Given the description of an element on the screen output the (x, y) to click on. 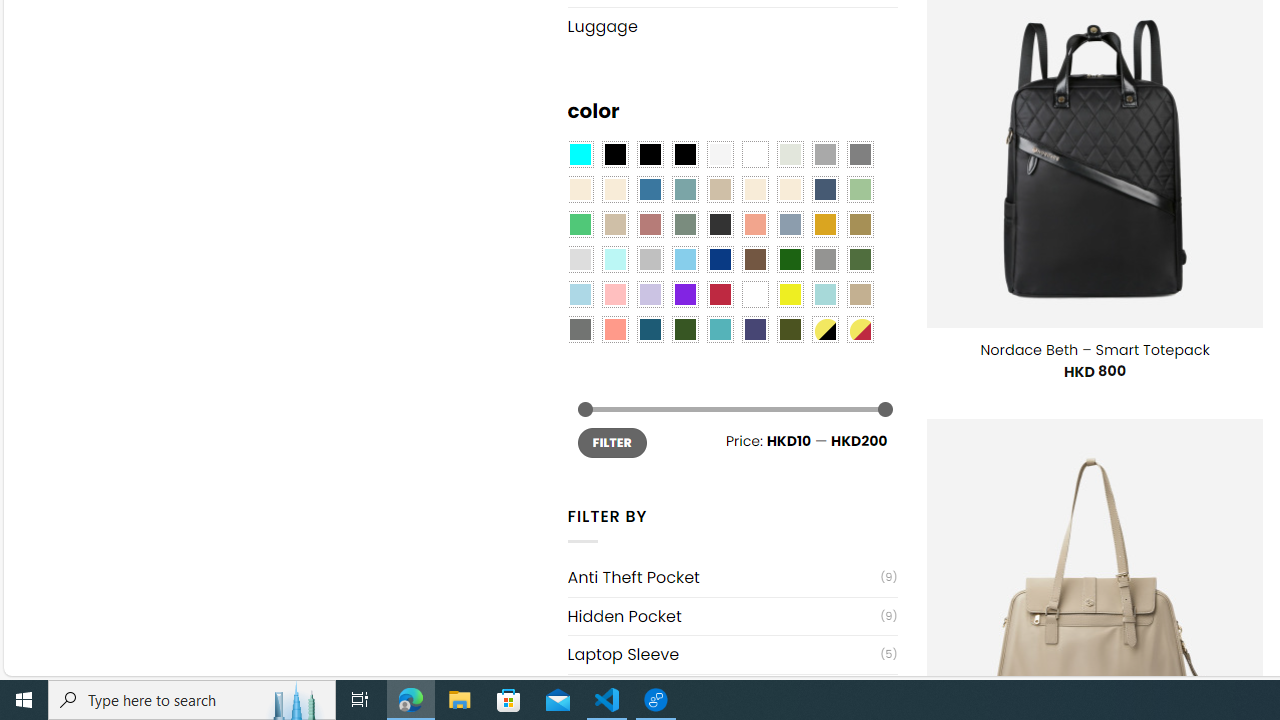
All Black (614, 154)
Purple (684, 295)
Green (859, 259)
Dark Gray (824, 154)
Beige-Brown (614, 190)
Coral (755, 224)
Anti Theft Pocket(9) (732, 577)
Hidden Pocket (723, 615)
Light Green (859, 190)
Blue Sage (684, 190)
Sage (684, 224)
Yellow-Red (859, 329)
Caramel (755, 190)
Forest (684, 329)
Laptop Sleeve(5) (732, 654)
